Given the description of an element on the screen output the (x, y) to click on. 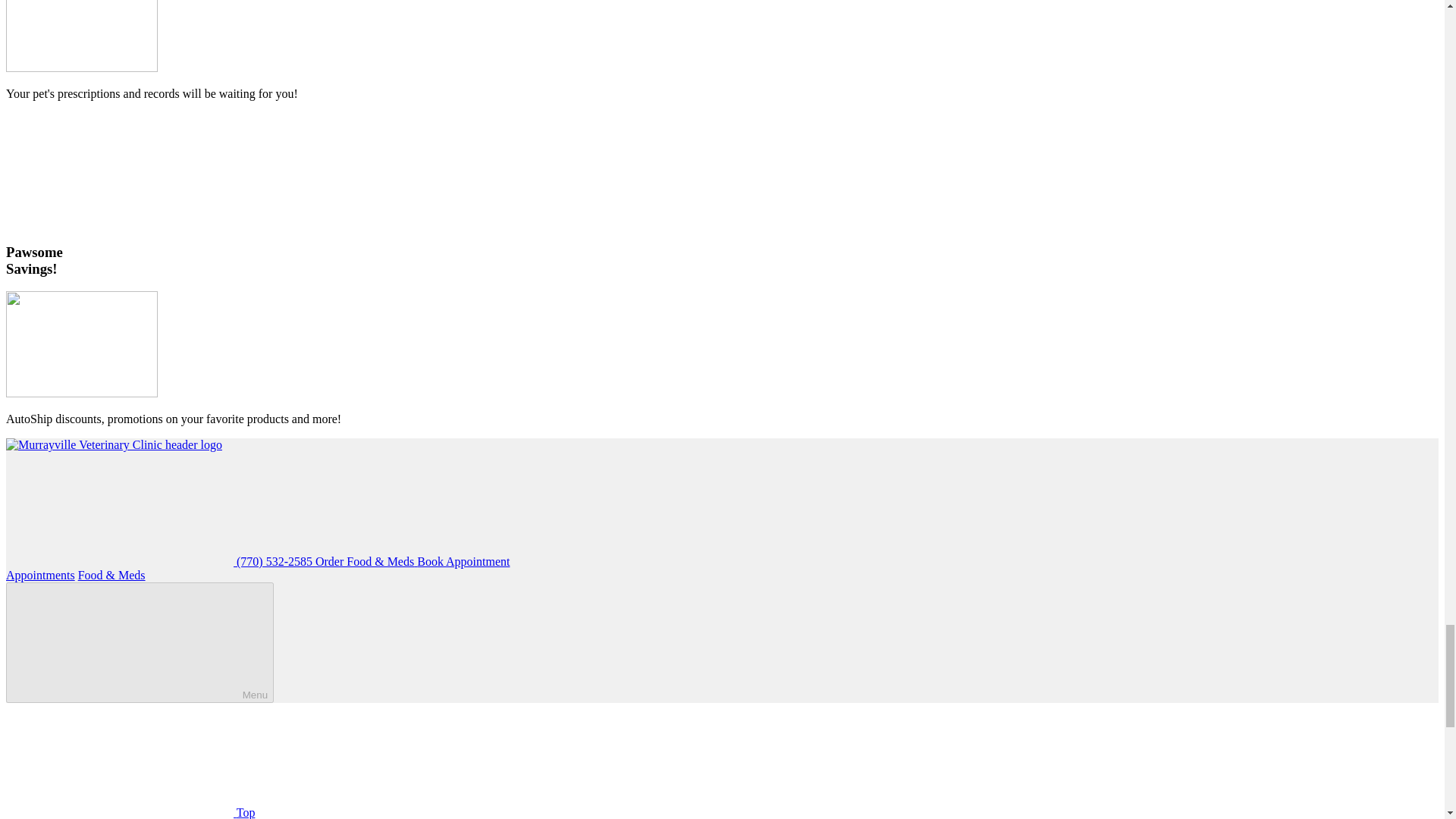
Top (129, 812)
